Given the description of an element on the screen output the (x, y) to click on. 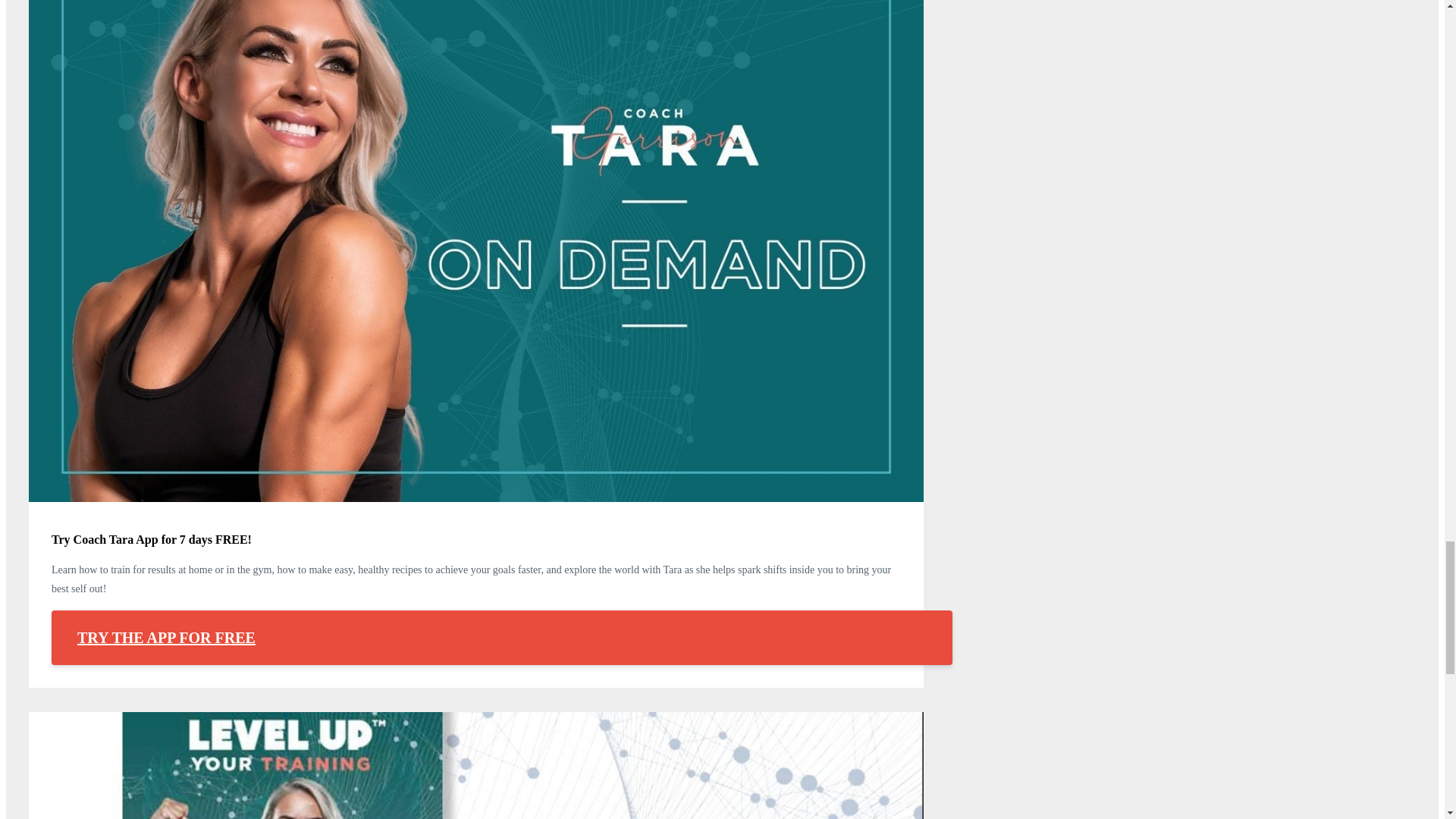
TRY THE APP FOR FREE (501, 637)
